Given the description of an element on the screen output the (x, y) to click on. 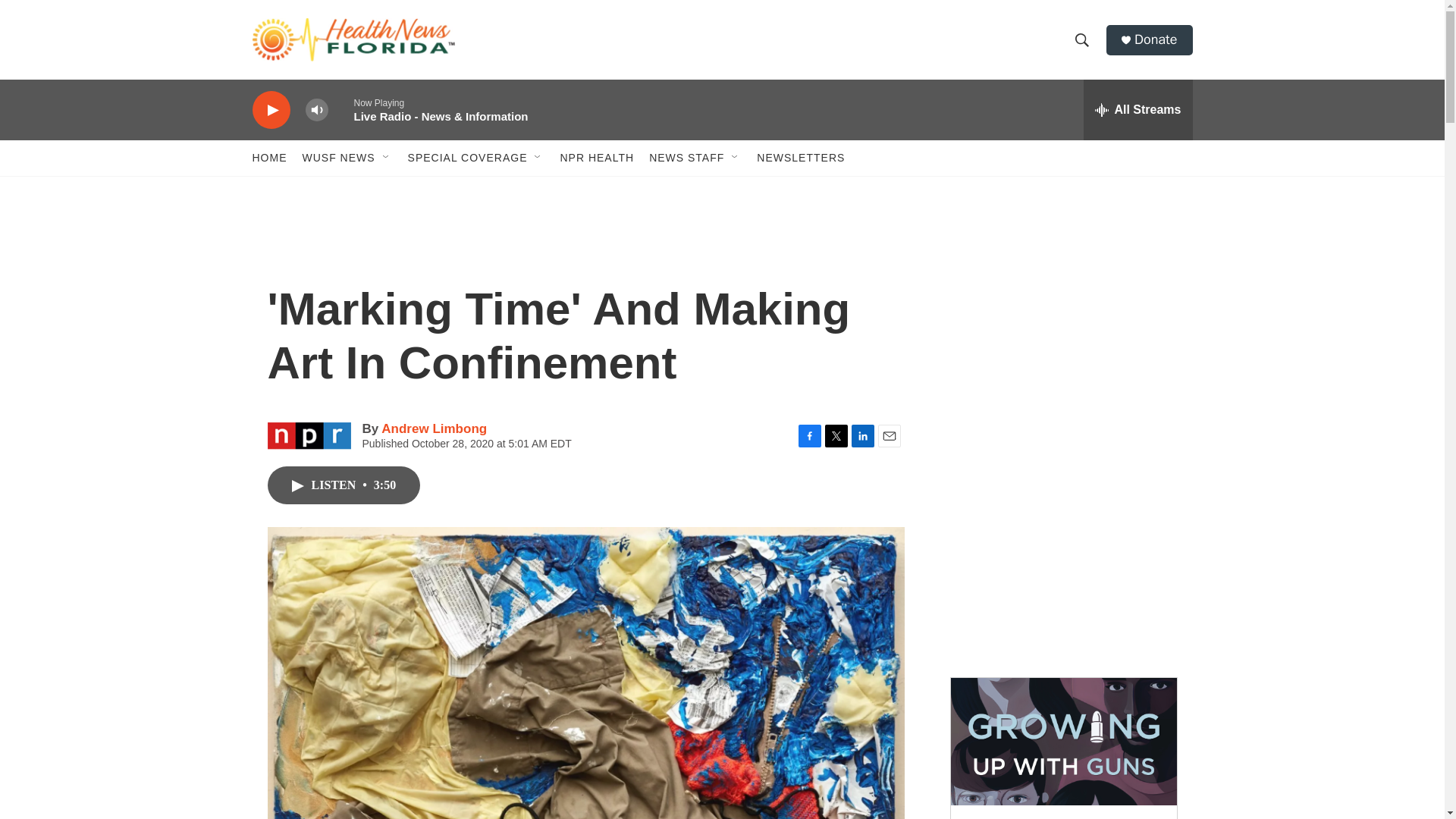
3rd party ad content (1062, 331)
3rd party ad content (1062, 552)
